Given the description of an element on the screen output the (x, y) to click on. 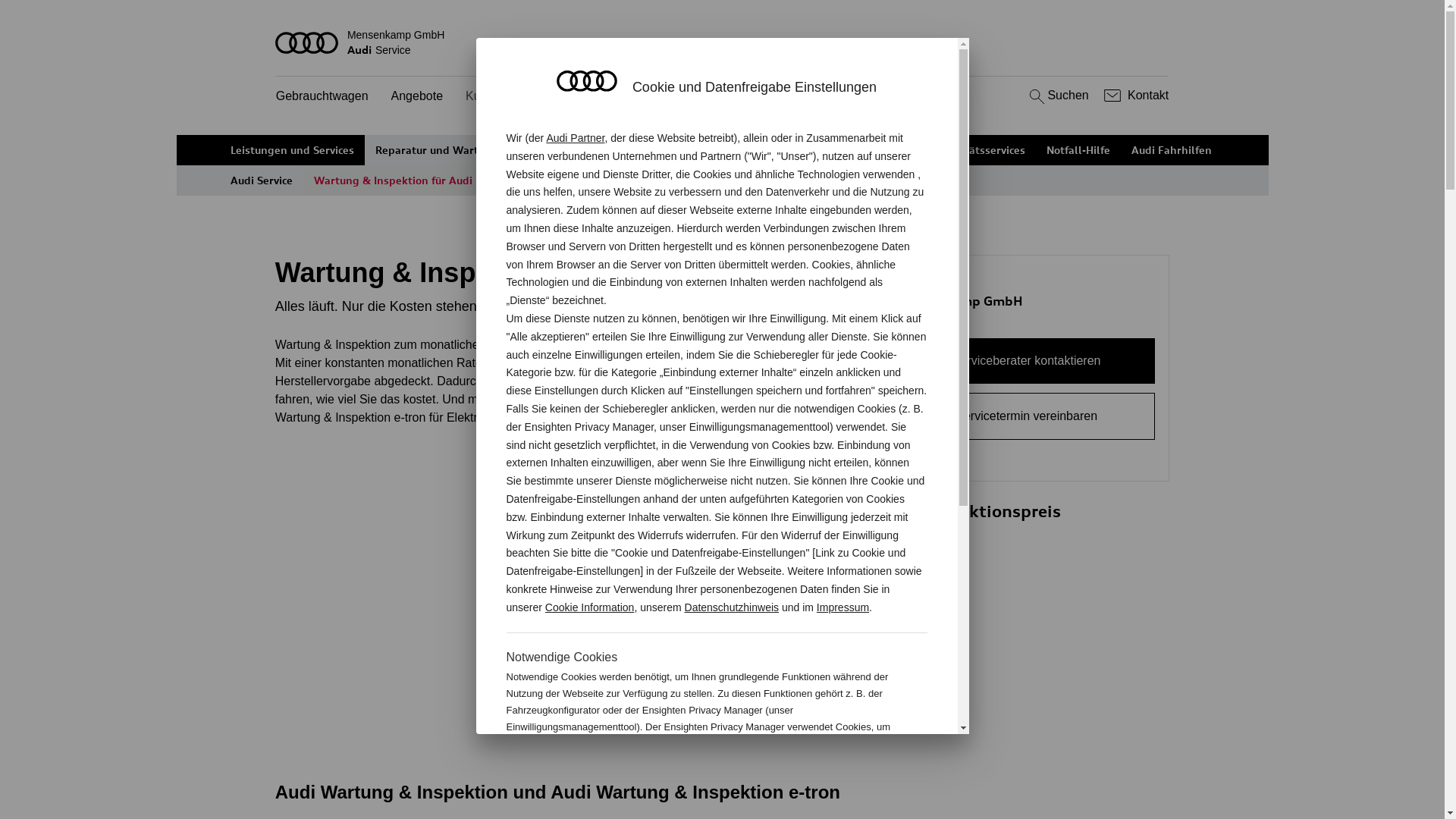
Cookie Information Element type: text (847, 776)
Jetzt berechnen und beantragen Element type: text (840, 672)
Serviceberater kontaktieren Element type: text (1025, 360)
Versicherungen Element type: text (805, 149)
Reparatur und Wartung Element type: text (436, 149)
Kontakt Element type: text (1134, 95)
Cookie Information Element type: text (589, 607)
Gebrauchtwagen Element type: text (322, 96)
Ihre Ansprechpartner Element type: text (688, 149)
Impressum Element type: text (842, 607)
Audi Service Element type: text (261, 180)
Mensenkamp GmbH
AudiService Element type: text (722, 42)
Notfall-Hilfe Element type: text (1077, 149)
Angebote Element type: text (417, 96)
Leistungen und Services Element type: text (291, 149)
Suchen Element type: text (1056, 95)
Servicetermin vereinbaren Element type: text (1025, 415)
Datenschutzhinweis Element type: text (731, 607)
Audi Fahrhilfen Element type: text (1171, 149)
Audi Partner Element type: text (575, 137)
Garantie Element type: text (889, 149)
Kundenservice Element type: text (505, 96)
